Given the description of an element on the screen output the (x, y) to click on. 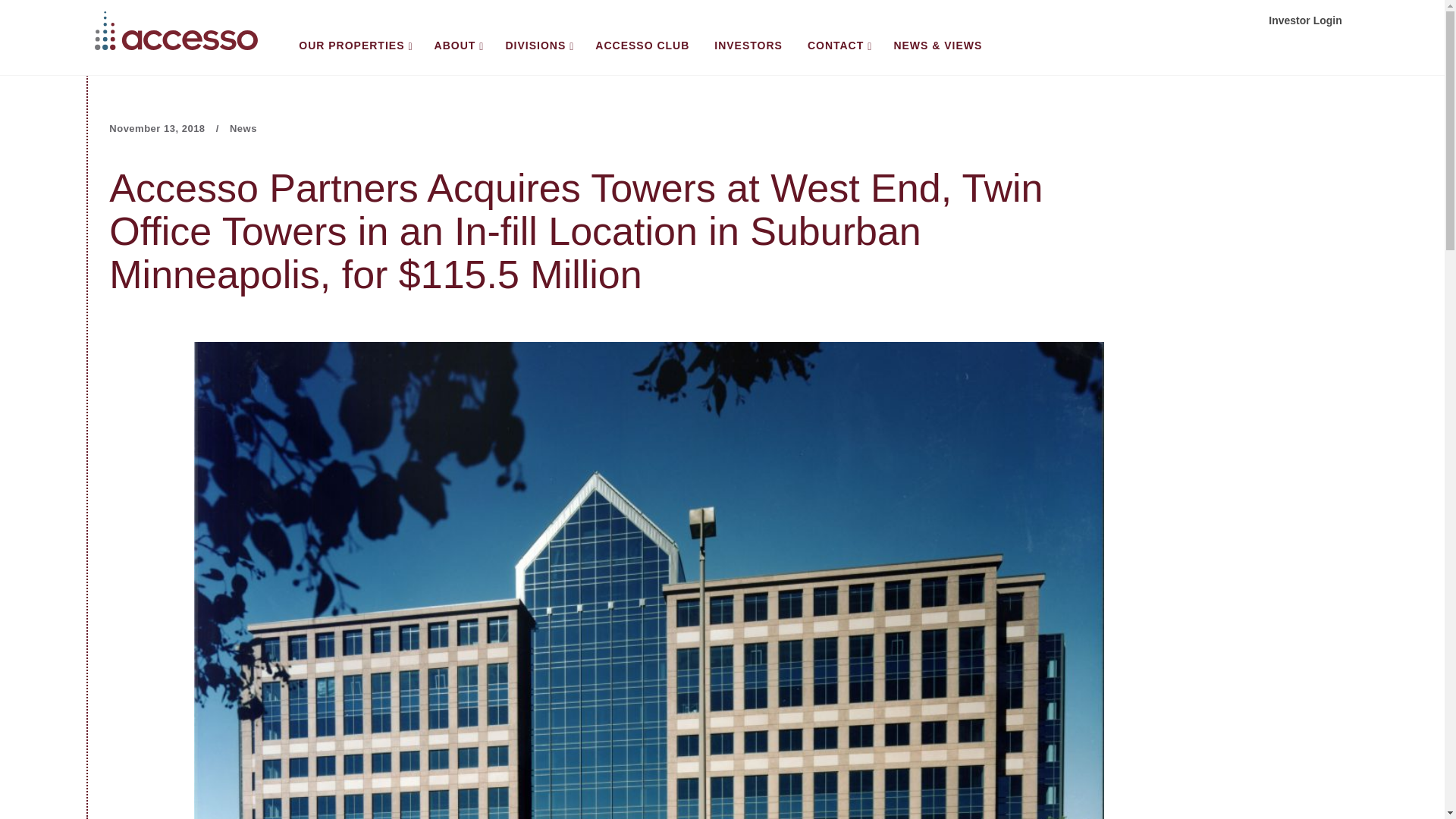
News (243, 128)
ACCESSO (175, 30)
OUR PROPERTIES (353, 48)
DIVISIONS (537, 48)
November 13, 2018 (157, 128)
Investor Login (1304, 20)
CONTACT (837, 48)
INVESTORS (748, 47)
